Given the description of an element on the screen output the (x, y) to click on. 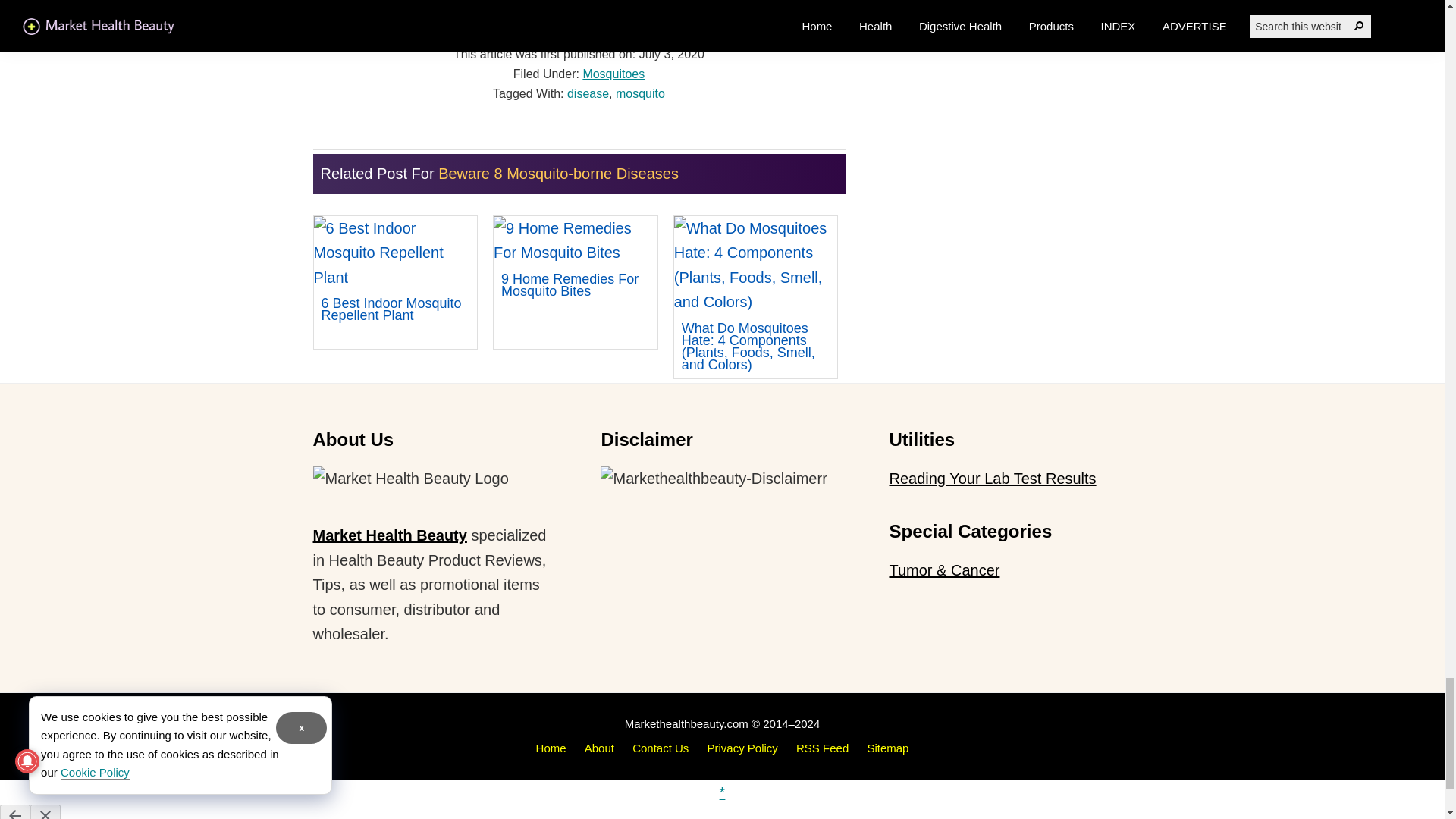
Mosquitoes (613, 73)
disease (587, 92)
